Given the description of an element on the screen output the (x, y) to click on. 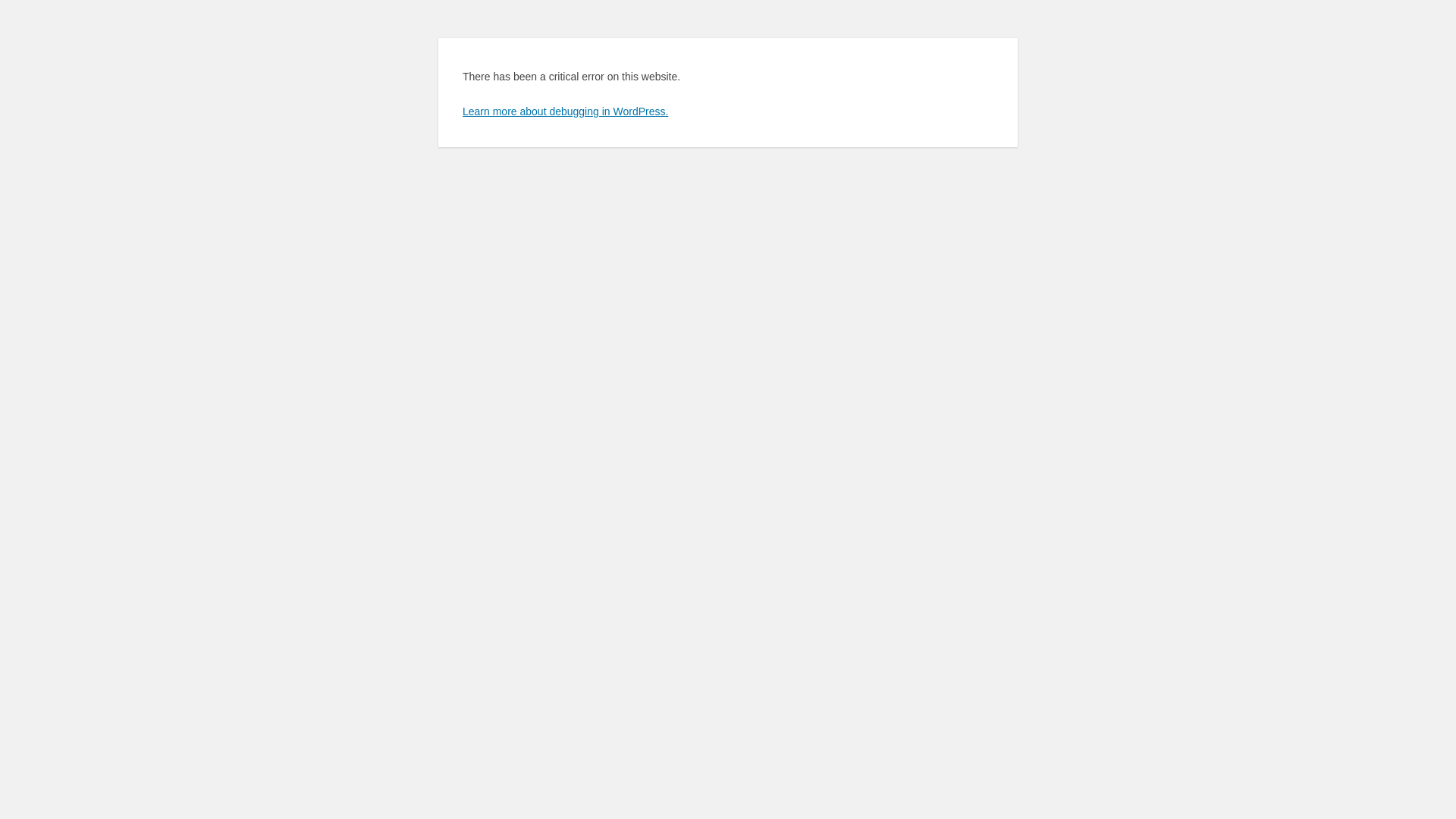
Learn more about debugging in WordPress. Element type: text (565, 111)
